Given the description of an element on the screen output the (x, y) to click on. 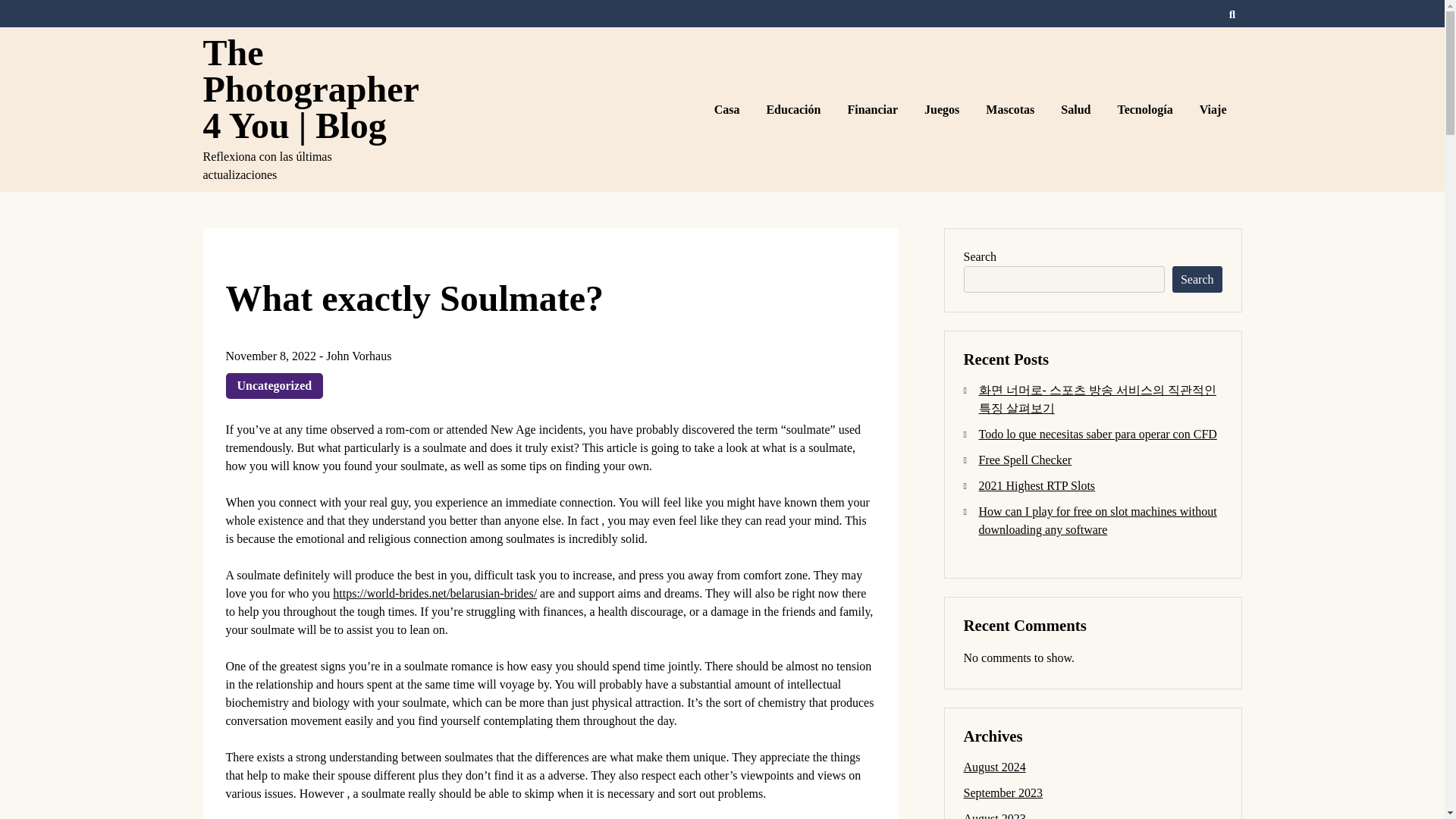
Financiar (873, 108)
Salud (1077, 108)
2021 Highest RTP Slots (1036, 485)
November 8, 2022 (271, 355)
John Vorhaus (358, 355)
Free Spell Checker (1024, 459)
September 2023 (1002, 792)
August 2023 (993, 815)
Viaje (1214, 108)
Casa (729, 108)
